Given the description of an element on the screen output the (x, y) to click on. 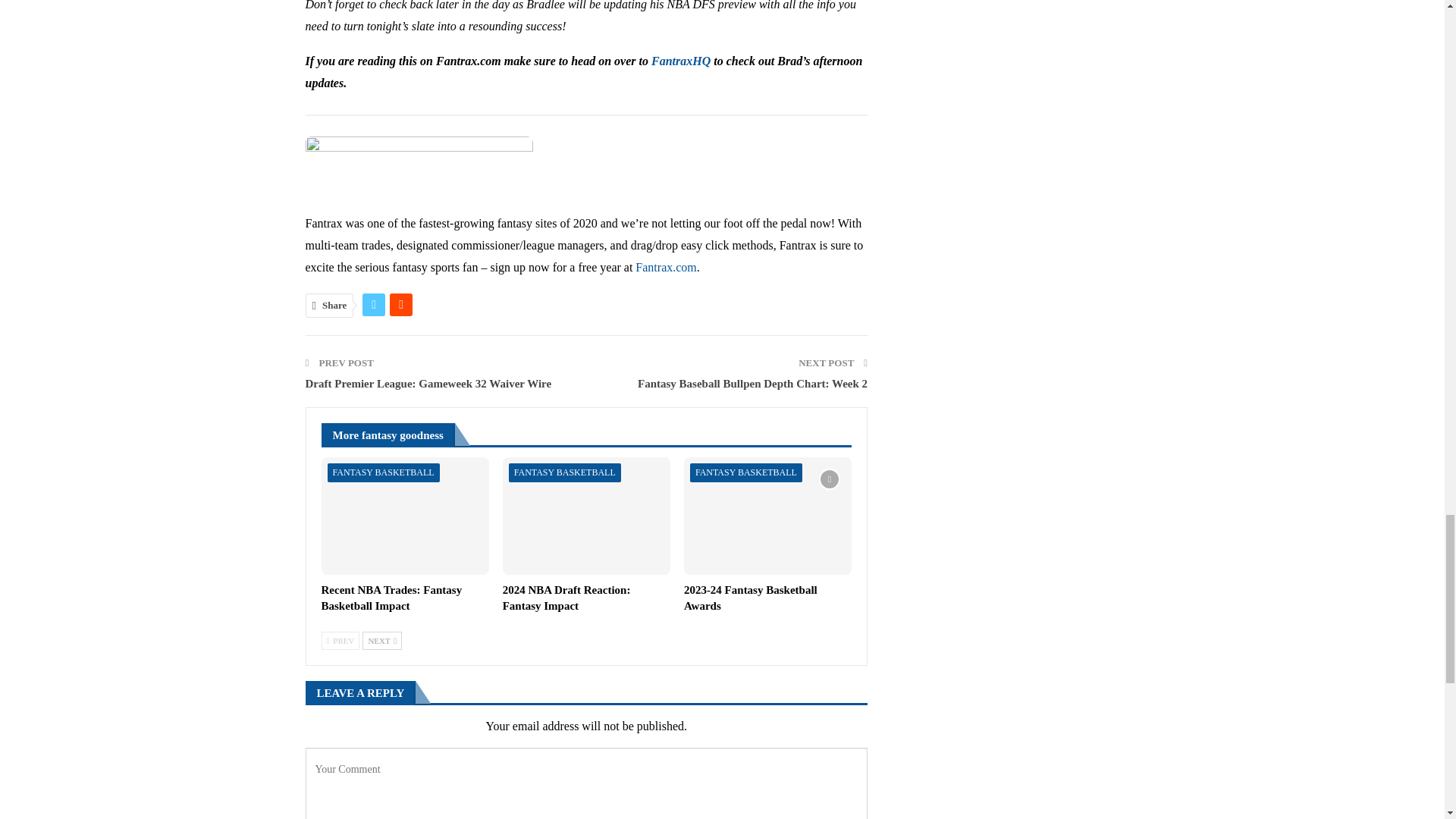
Recent NBA Trades: Fantasy Basketball Impact (392, 597)
2024 NBA Draft Reaction: Fantasy Impact (566, 597)
Recent NBA Trades: Fantasy Basketball Impact (405, 515)
2023-24 Fantasy Basketball Awards (767, 515)
2024 NBA Draft Reaction: Fantasy Impact (585, 515)
